Given the description of an element on the screen output the (x, y) to click on. 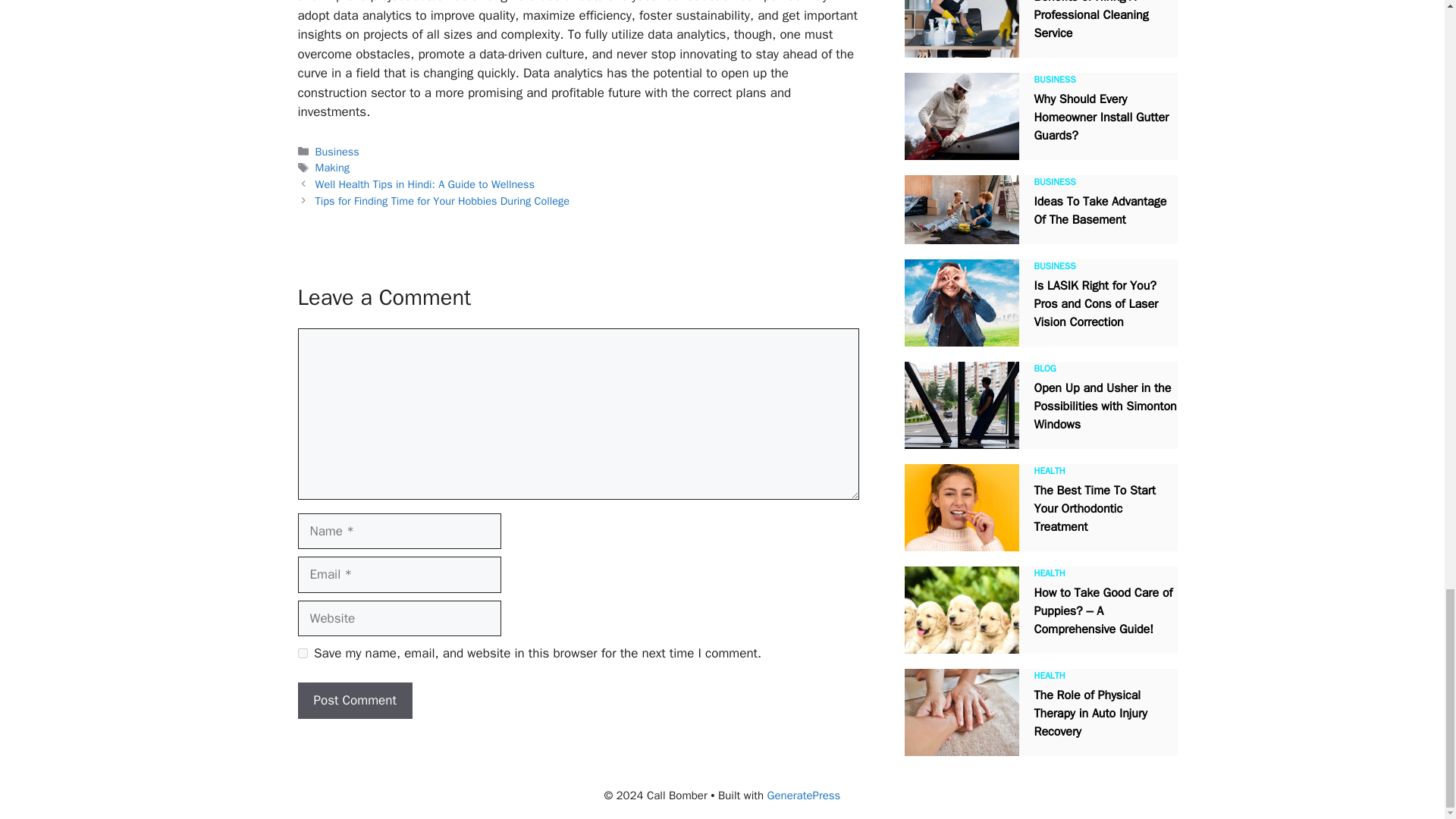
yes (302, 653)
Tips for Finding Time for Your Hobbies During College (442, 201)
Business (337, 151)
Making (332, 167)
Well Health Tips in Hindi: A Guide to Wellness (424, 183)
Post Comment (354, 700)
Post Comment (354, 700)
